Given the description of an element on the screen output the (x, y) to click on. 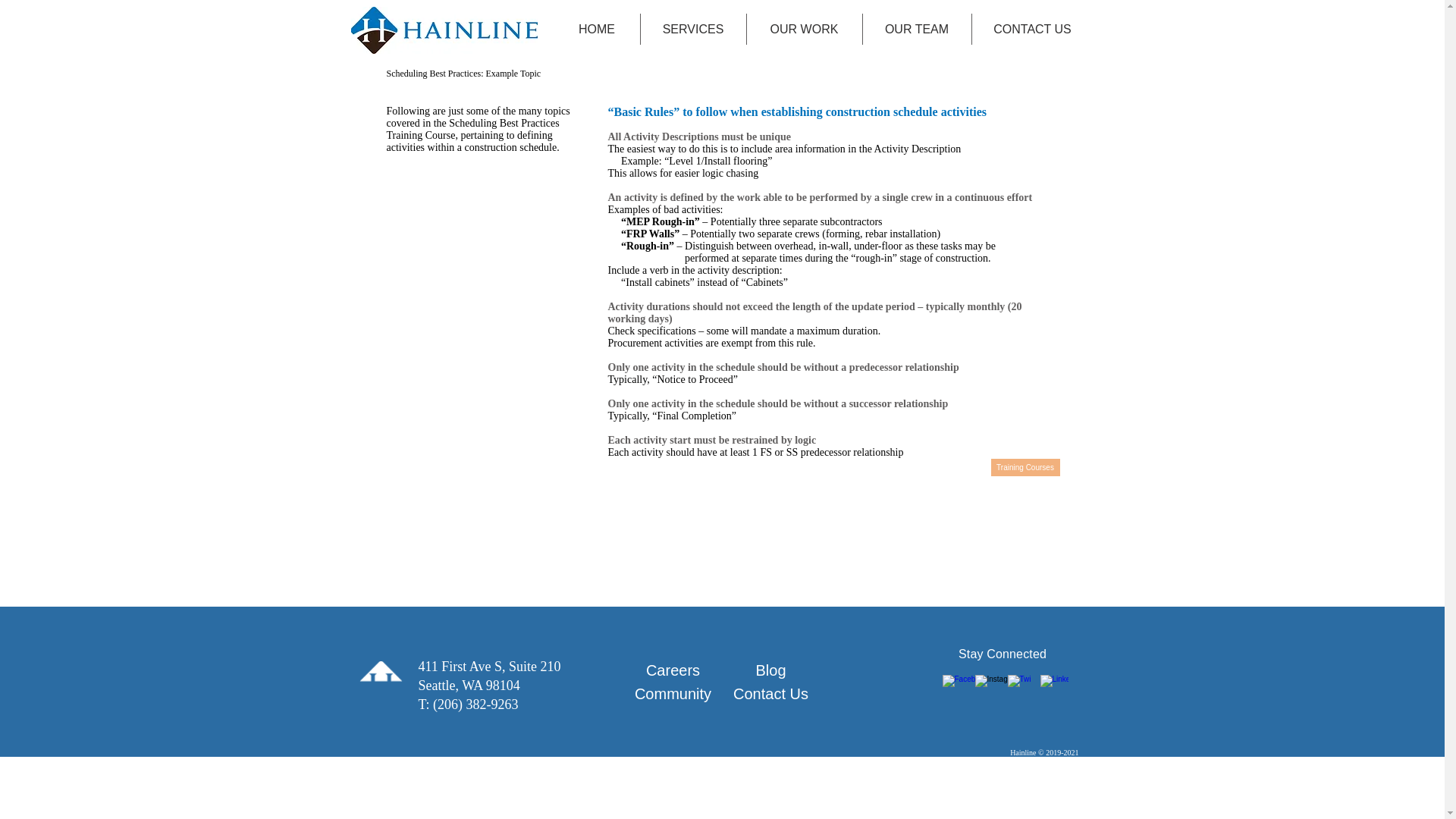
Training Courses (1024, 466)
Blog (771, 670)
Careers (672, 670)
HOME (596, 29)
Contact Us (771, 693)
OUR TEAM (917, 29)
Community (672, 693)
OUR WORK (803, 29)
CONTACT US (1032, 29)
SERVICES (692, 29)
